Given the description of an element on the screen output the (x, y) to click on. 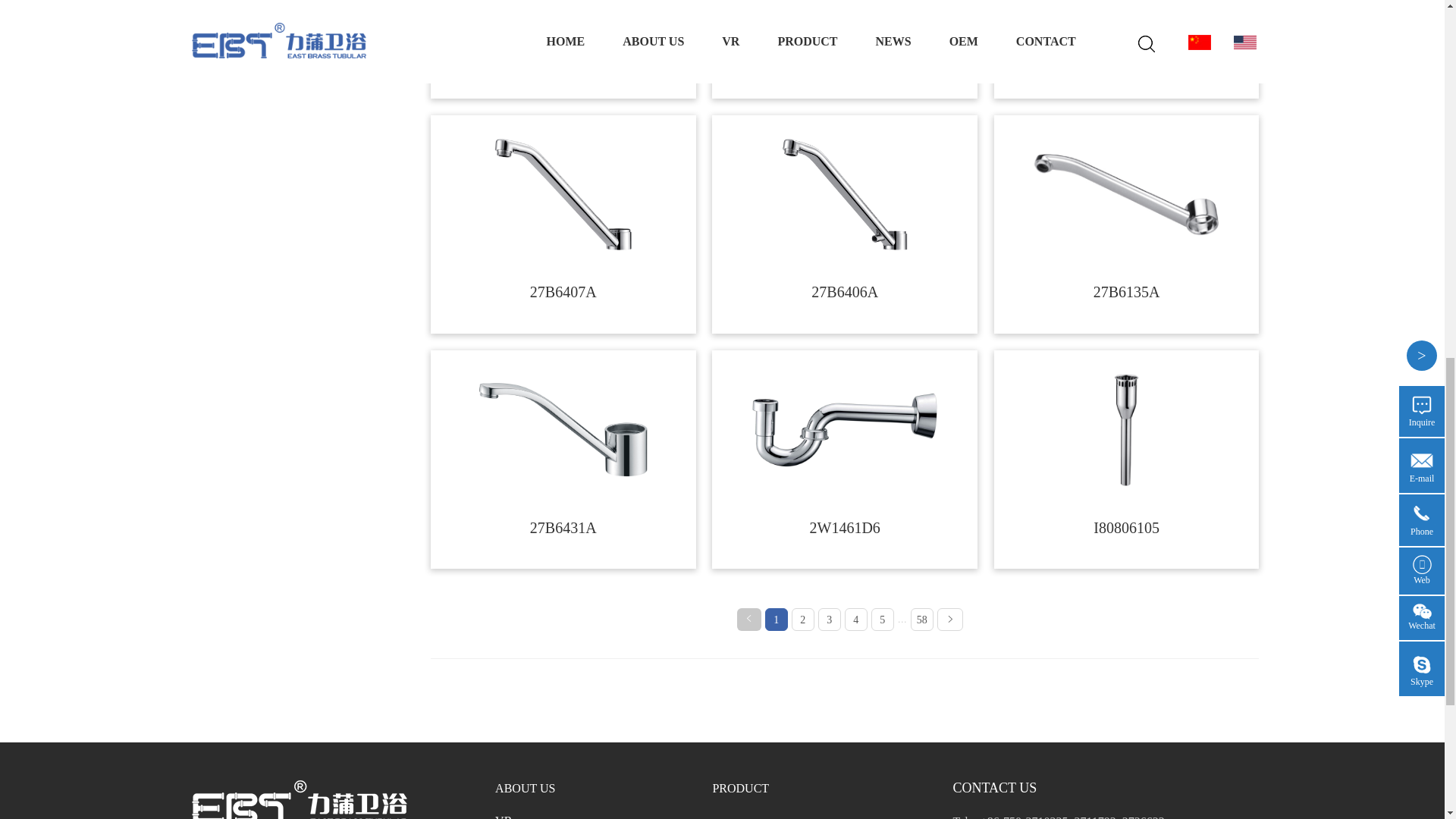
27B6258A (845, 7)
27B6406A (845, 194)
27B6407A (563, 194)
27B6135A (1126, 194)
27B6115A (563, 7)
27B6431A (563, 429)
EBT (298, 799)
27B6430A (1126, 7)
2W1461D6 (844, 429)
